Given the description of an element on the screen output the (x, y) to click on. 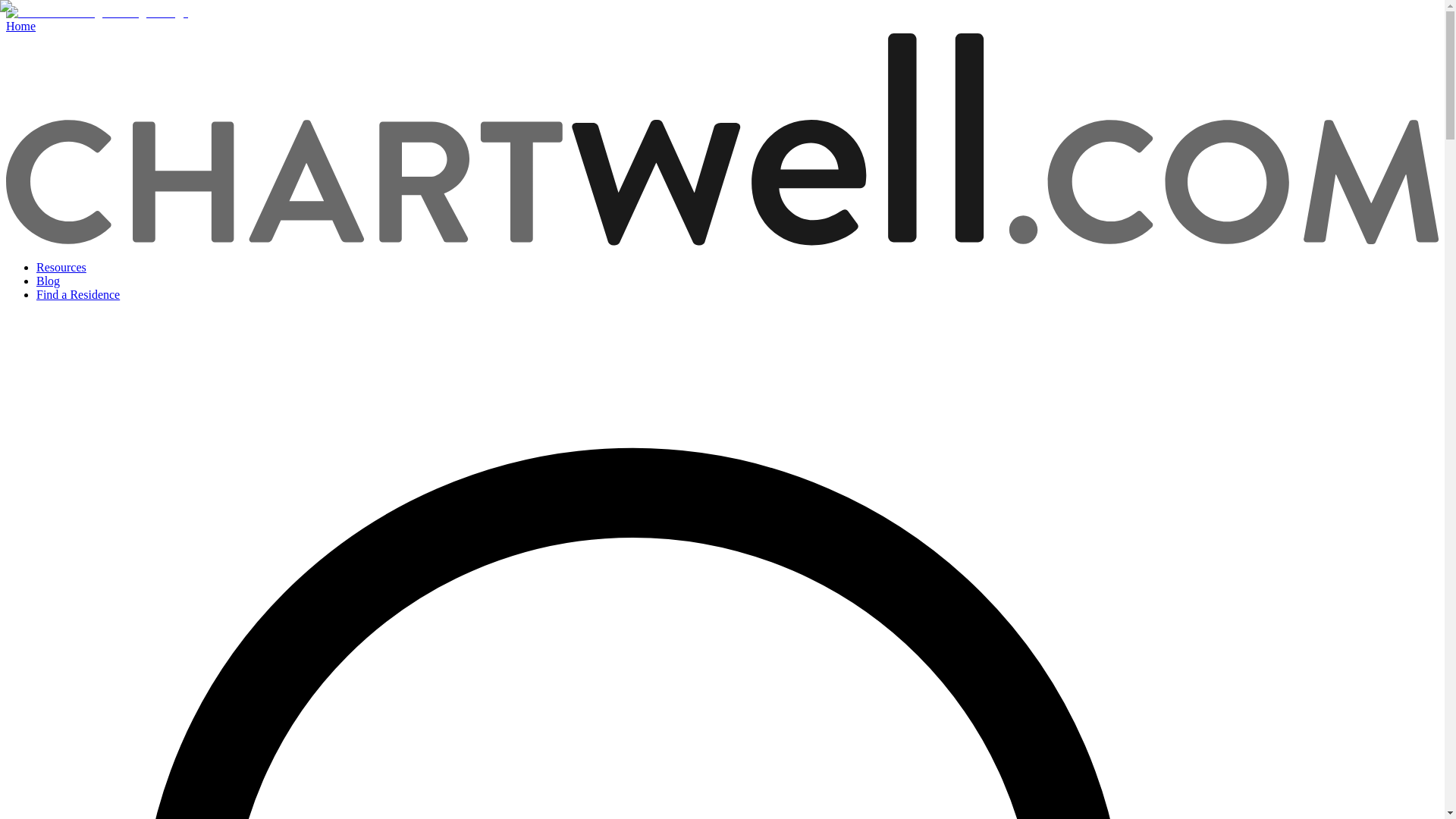
Find a Residence (77, 294)
Blog (47, 280)
Resources (60, 267)
